Given the description of an element on the screen output the (x, y) to click on. 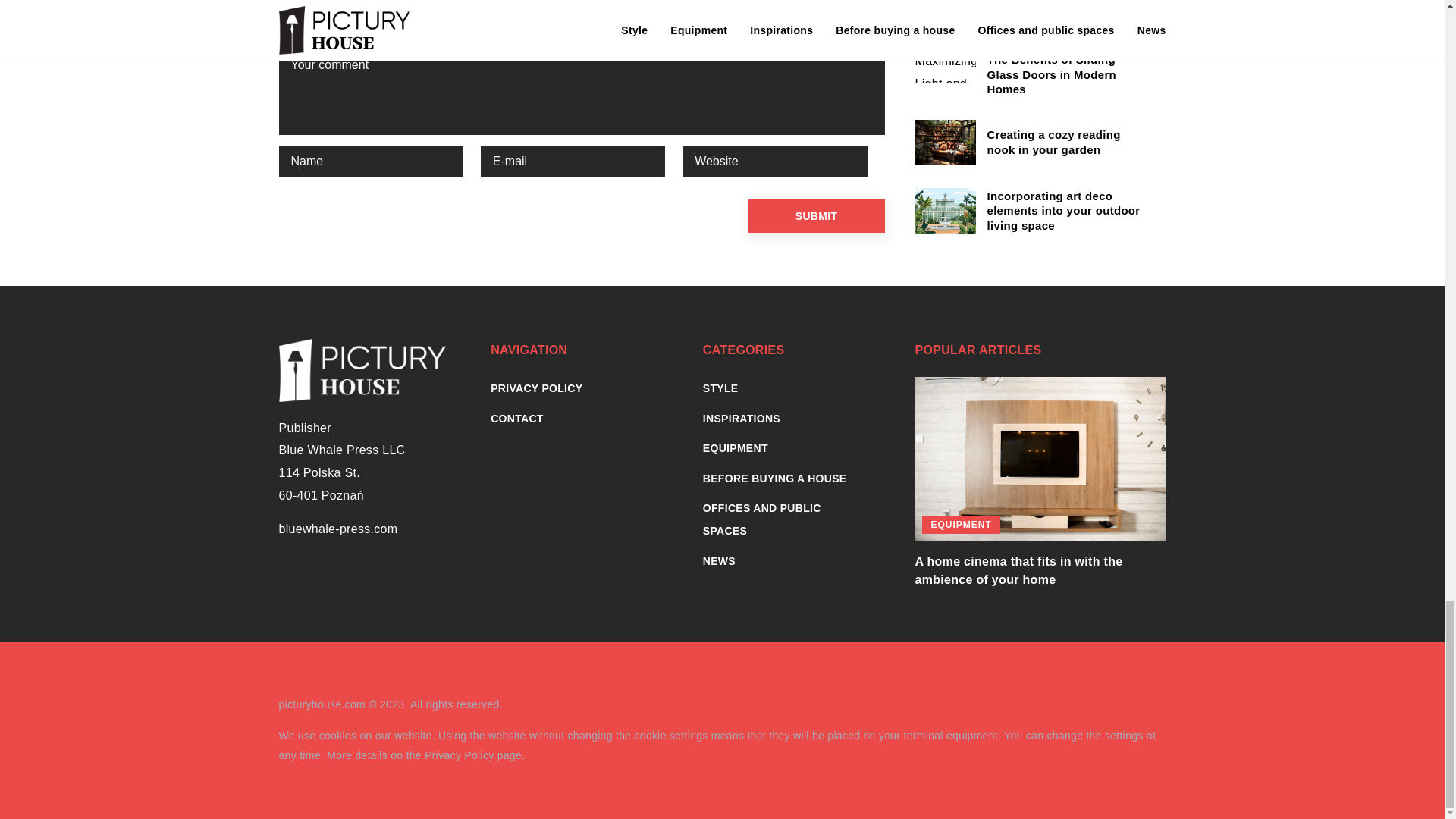
Submit (815, 215)
Submit (815, 215)
